Given the description of an element on the screen output the (x, y) to click on. 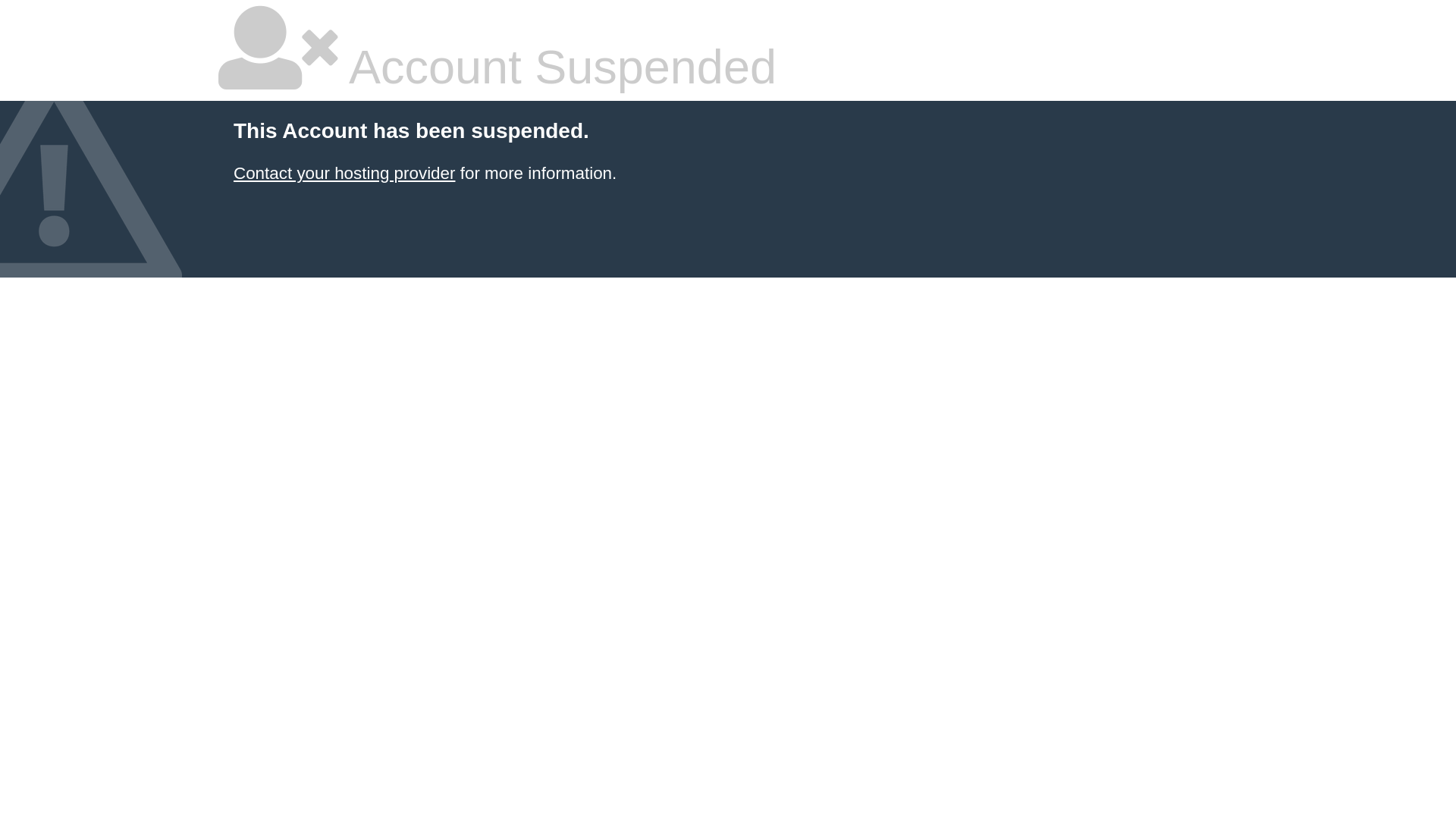
Contact your hosting provider Element type: text (344, 172)
